Given the description of an element on the screen output the (x, y) to click on. 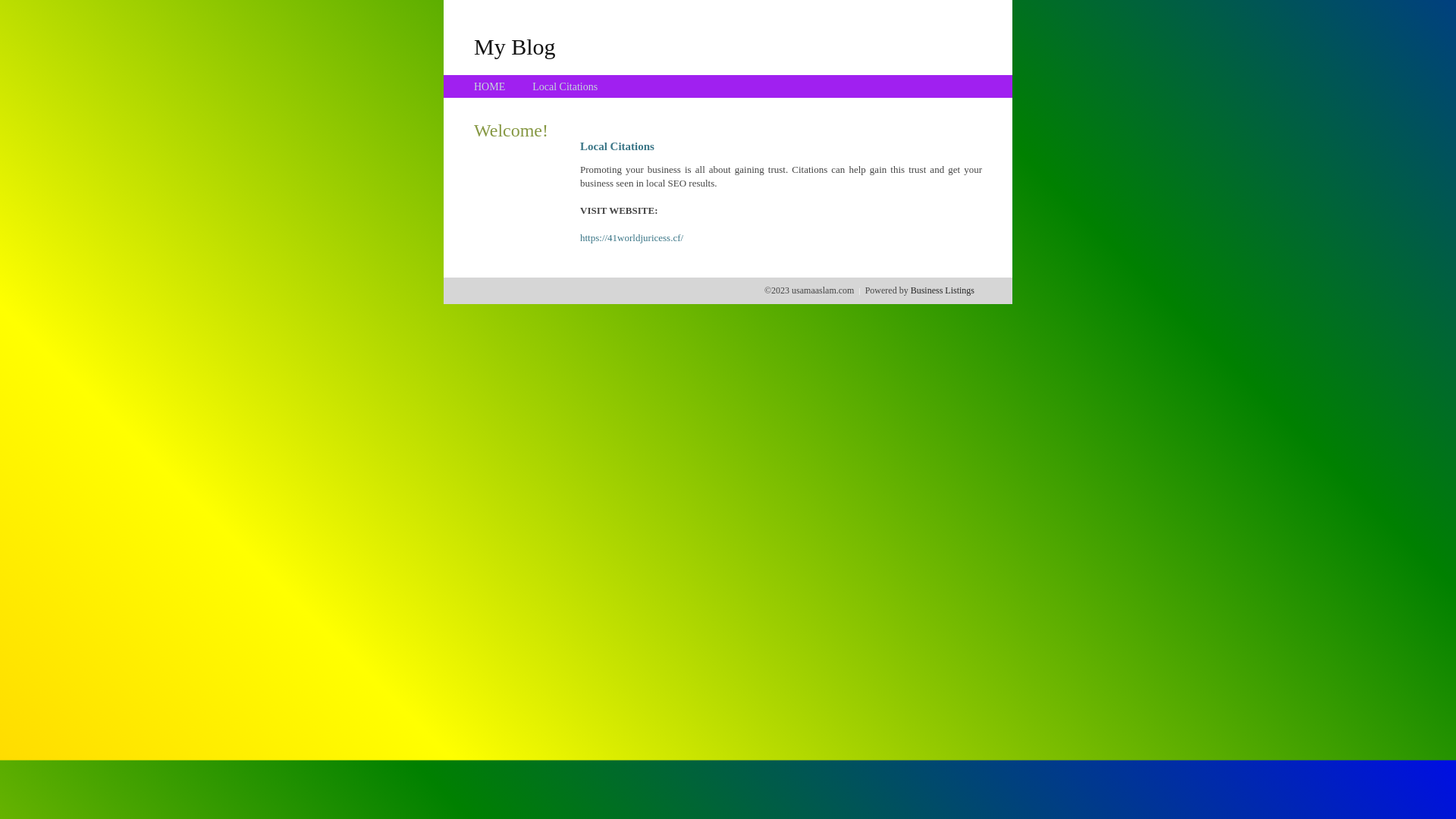
Business Listings Element type: text (942, 290)
https://41worldjuricess.cf/ Element type: text (631, 237)
Local Citations Element type: text (564, 86)
HOME Element type: text (489, 86)
My Blog Element type: text (514, 46)
